Given the description of an element on the screen output the (x, y) to click on. 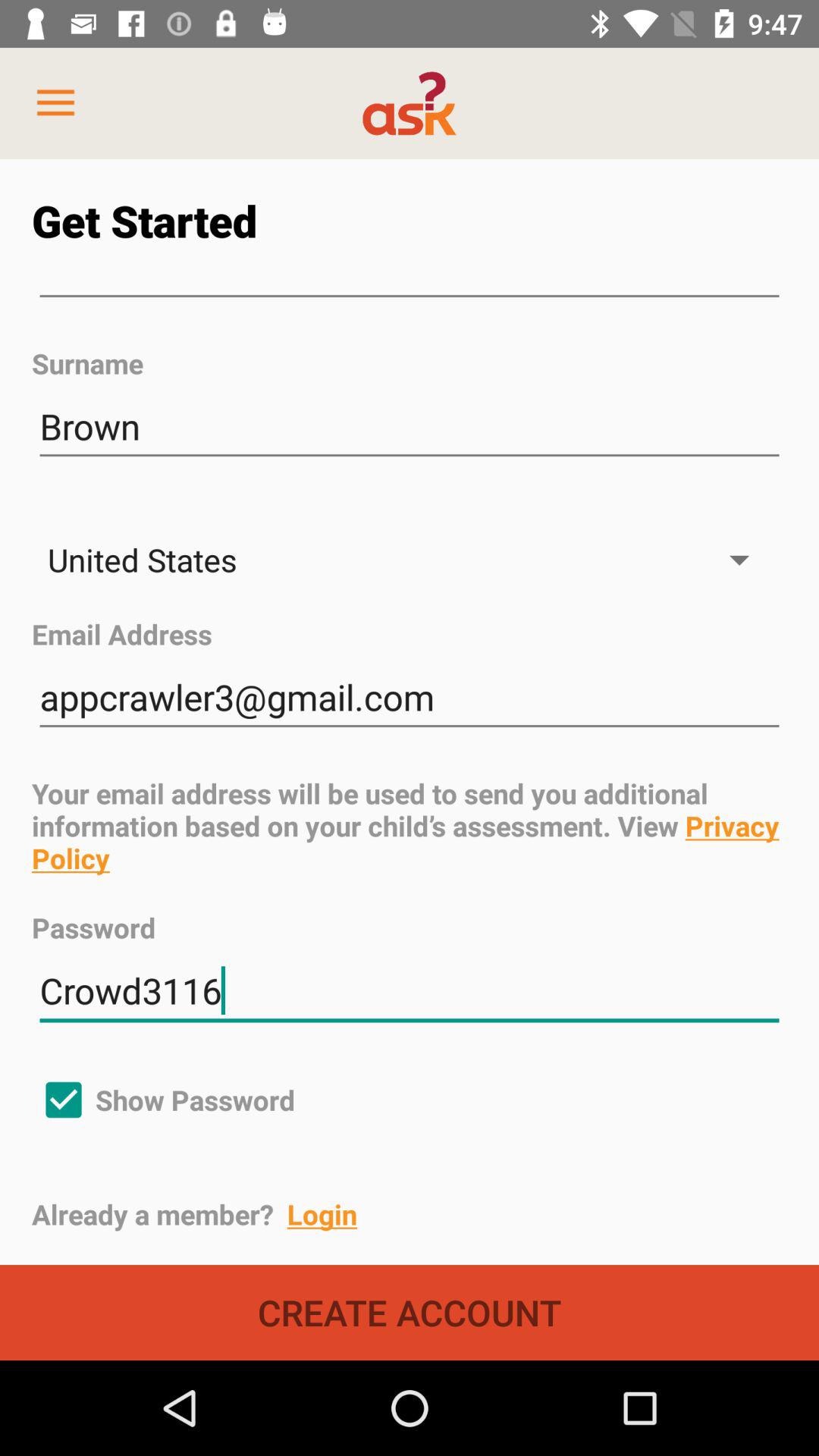
turn off crowd3116 (409, 991)
